Given the description of an element on the screen output the (x, y) to click on. 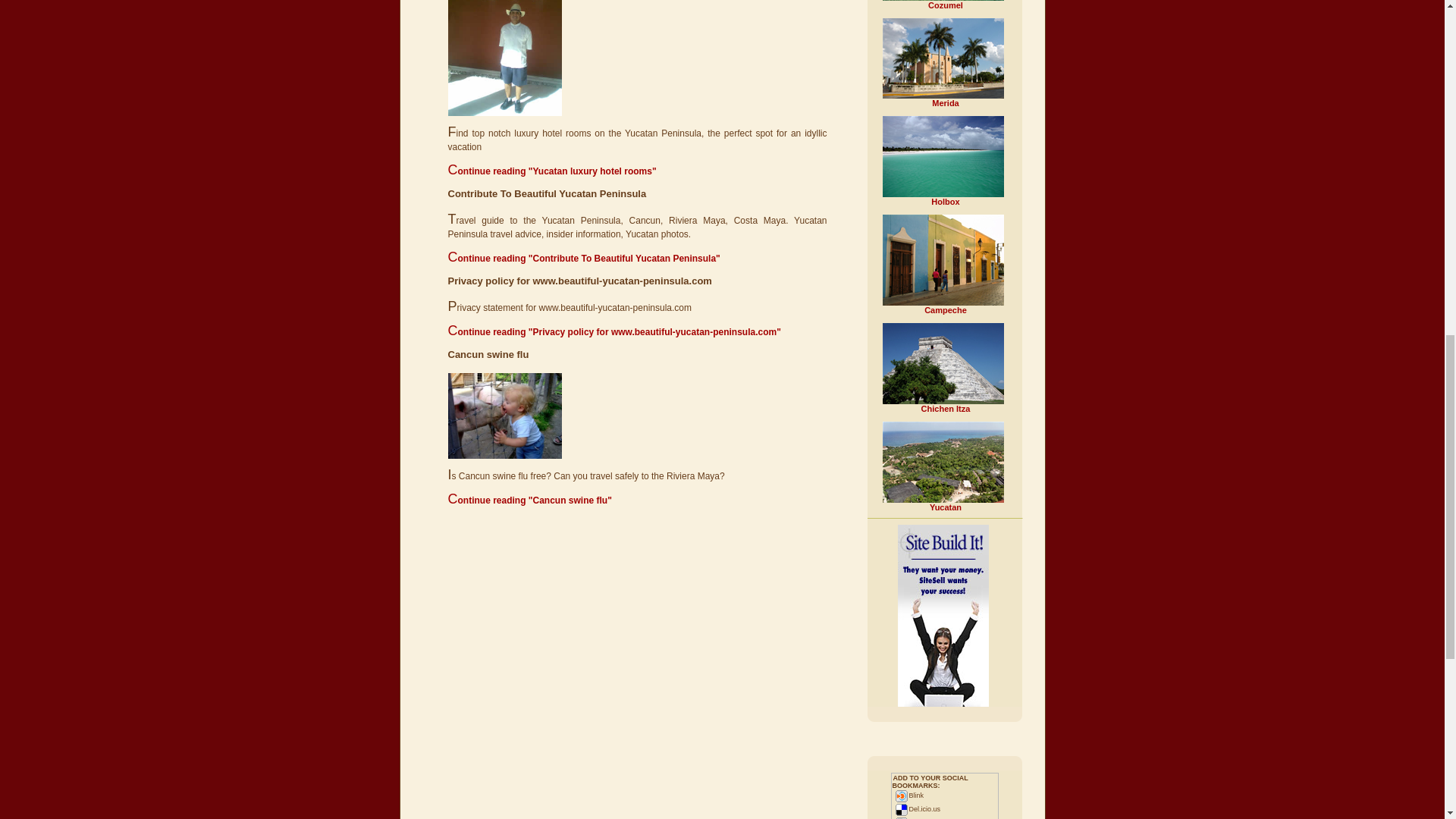
Continue reading "Contribute To Beautiful Yucatan Peninsula" (582, 258)
Cozumel (945, 4)
Merida (944, 102)
Continue reading "Yucatan luxury hotel rooms" (551, 171)
Continue reading "Cancun swine flu" (528, 500)
Add this page to Delicious (915, 809)
Learn about Social Bookmarking (929, 781)
Advertisement (636, 635)
